Given the description of an element on the screen output the (x, y) to click on. 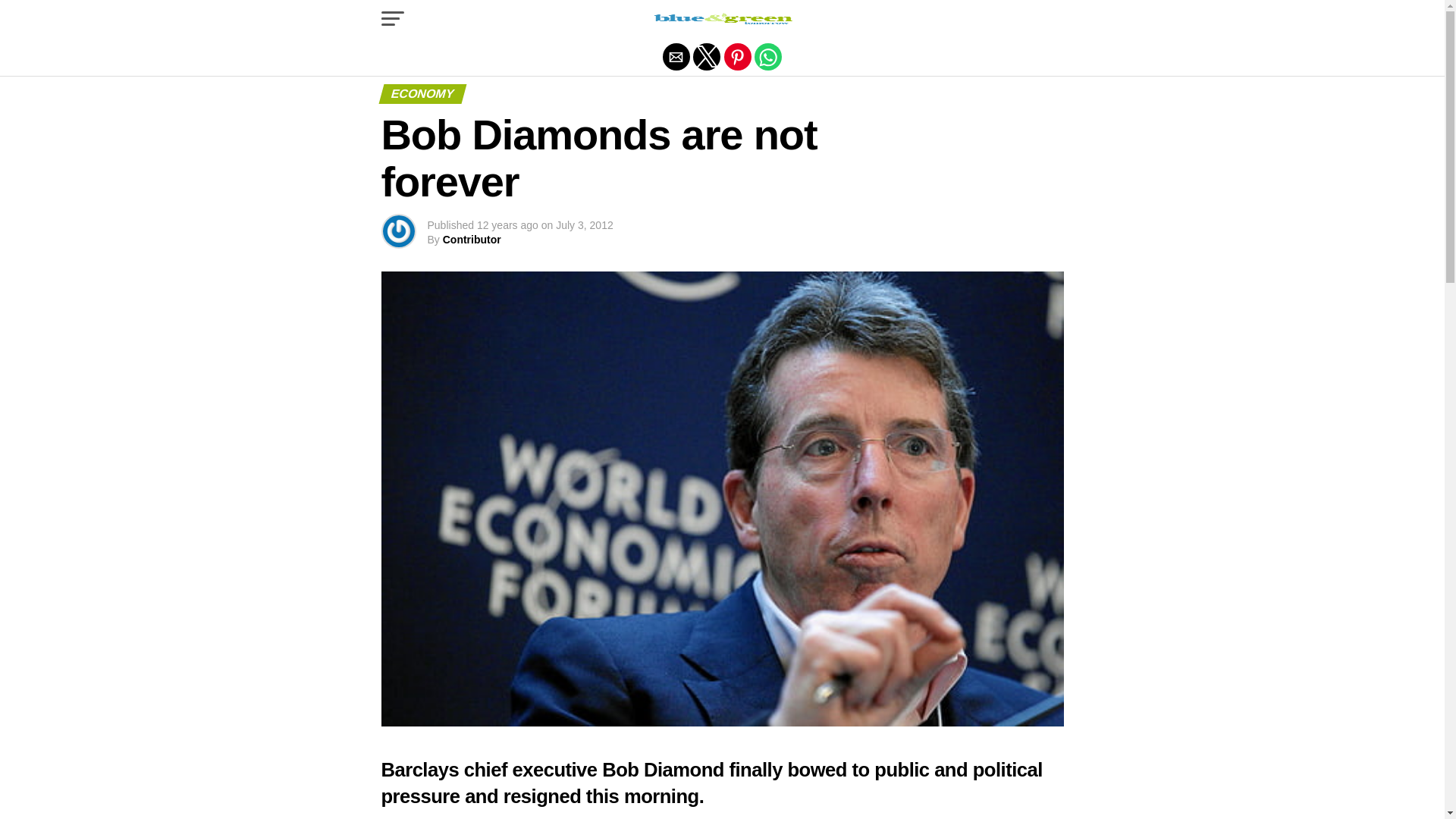
Posts by Contributor (471, 239)
Contributor (471, 239)
